Given the description of an element on the screen output the (x, y) to click on. 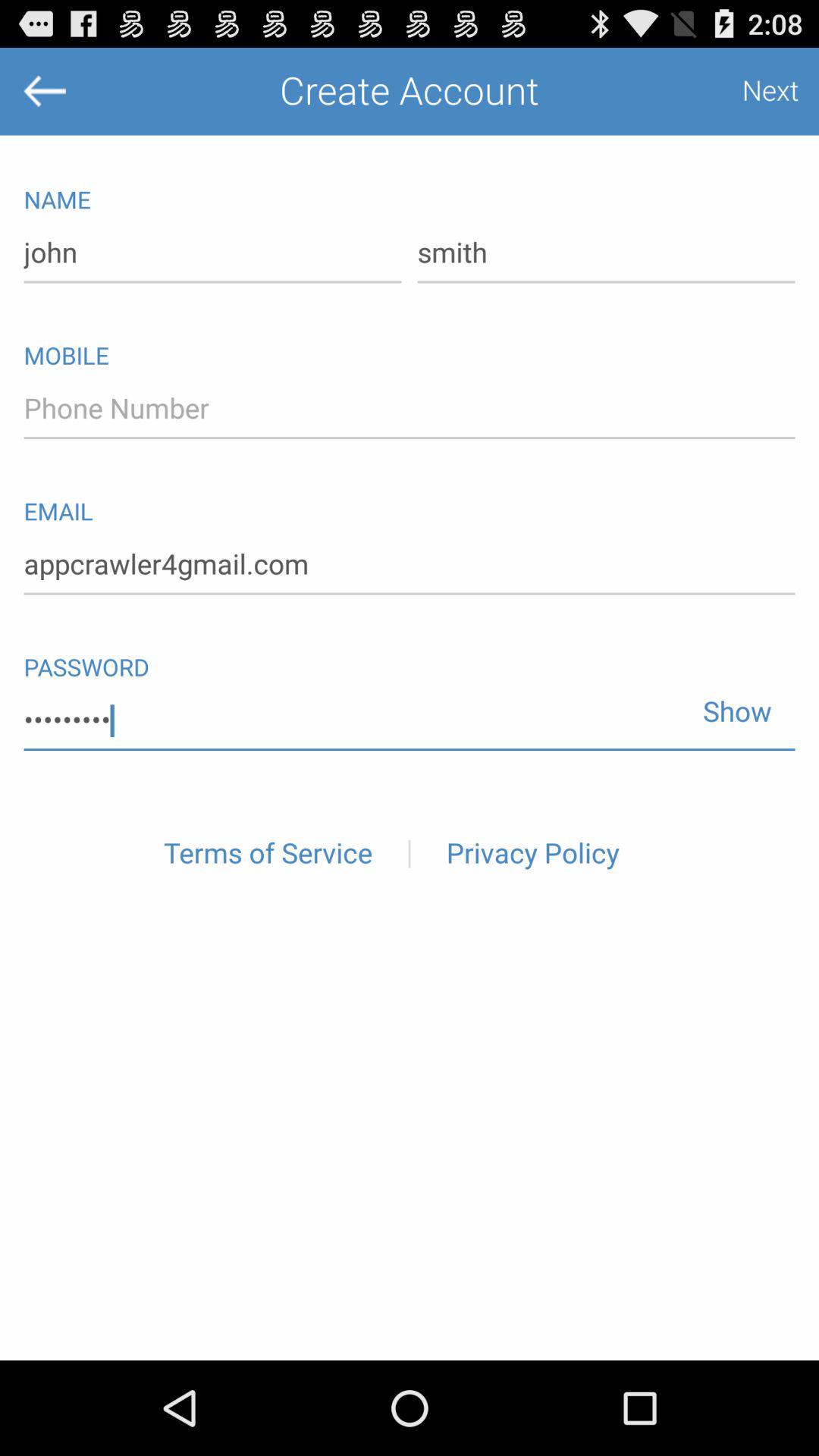
select the item below the crowd3116 item (267, 854)
